Given the description of an element on the screen output the (x, y) to click on. 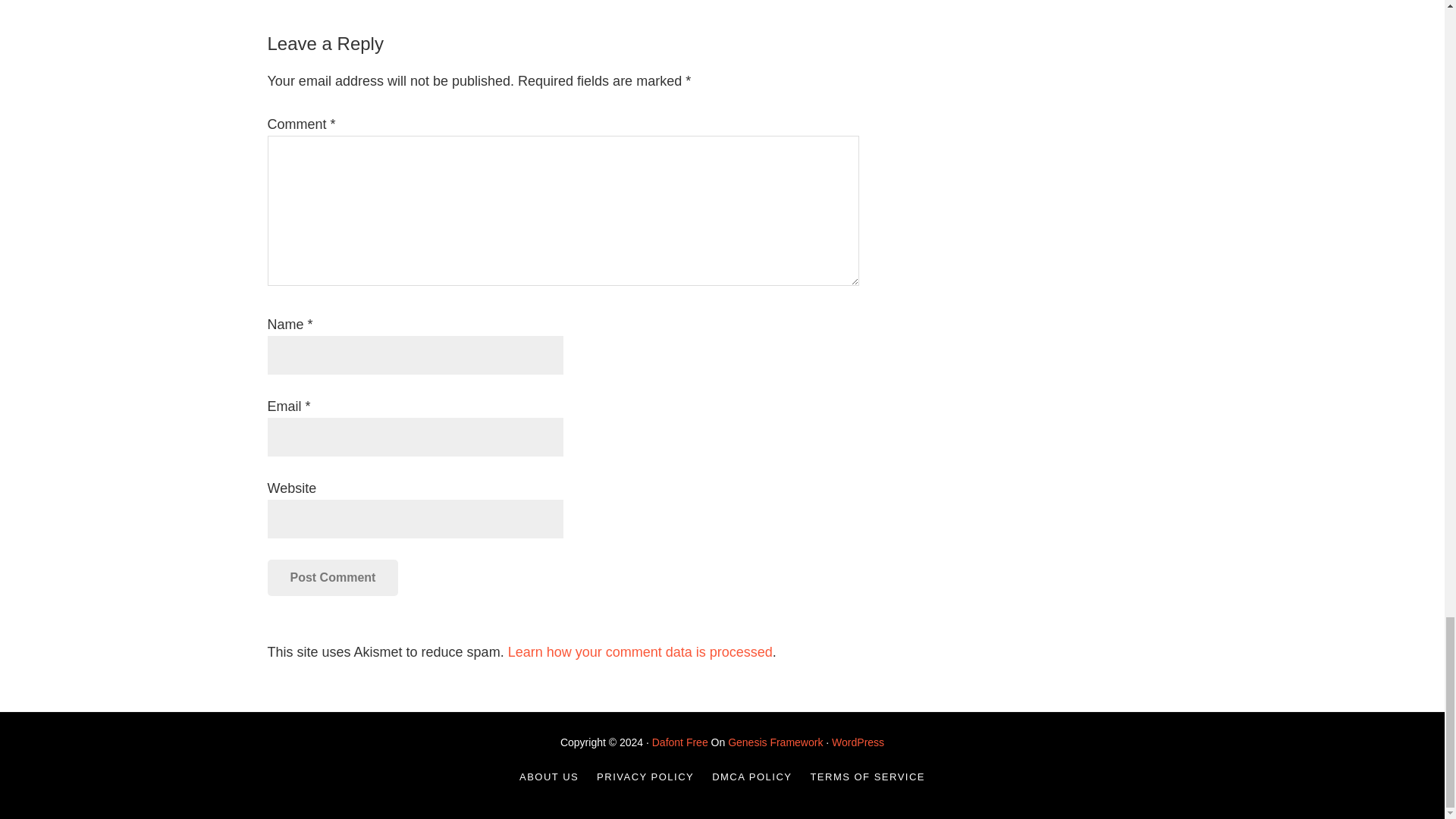
Learn how your comment data is processed (640, 652)
Post Comment (331, 577)
Post Comment (331, 577)
